Given the description of an element on the screen output the (x, y) to click on. 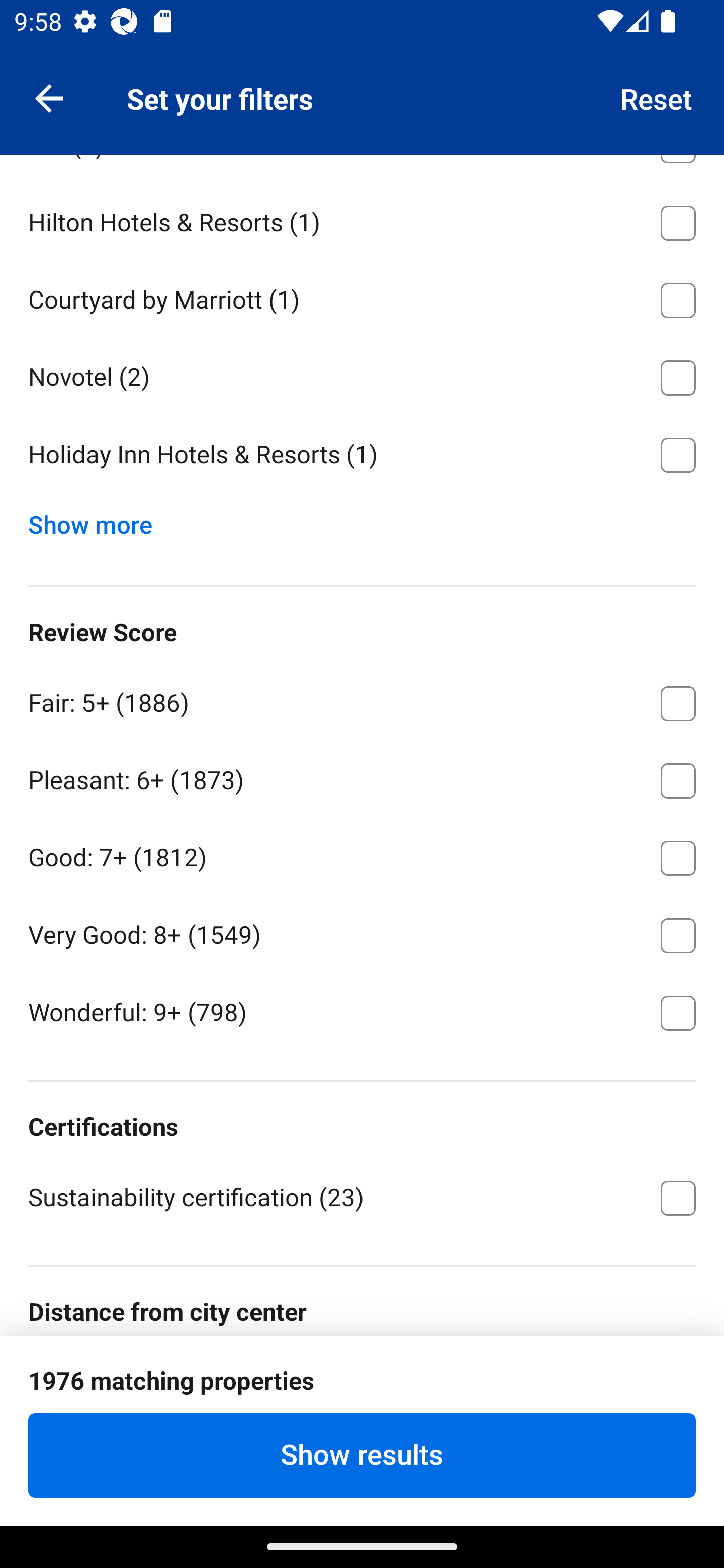
Navigate up (49, 97)
Reset (656, 97)
Hilton Hotels & Resorts ⁦(1) (361, 219)
Courtyard by Marriott ⁦(1) (361, 296)
Novotel ⁦(2) (361, 373)
Holiday Inn Hotels & Resorts ⁦(1) (361, 454)
Show more (97, 519)
Fair: 5+ ⁦(1886) (361, 699)
Pleasant: 6+ ⁦(1873) (361, 777)
Good: 7+ ⁦(1812) (361, 854)
Very Good: 8+ ⁦(1549) (361, 931)
Wonderful: 9+ ⁦(798) (361, 1011)
Sustainability certification ⁦(23) (361, 1196)
Less than 1/2 mile ⁦(74) (361, 1378)
Show results (361, 1454)
